Given the description of an element on the screen output the (x, y) to click on. 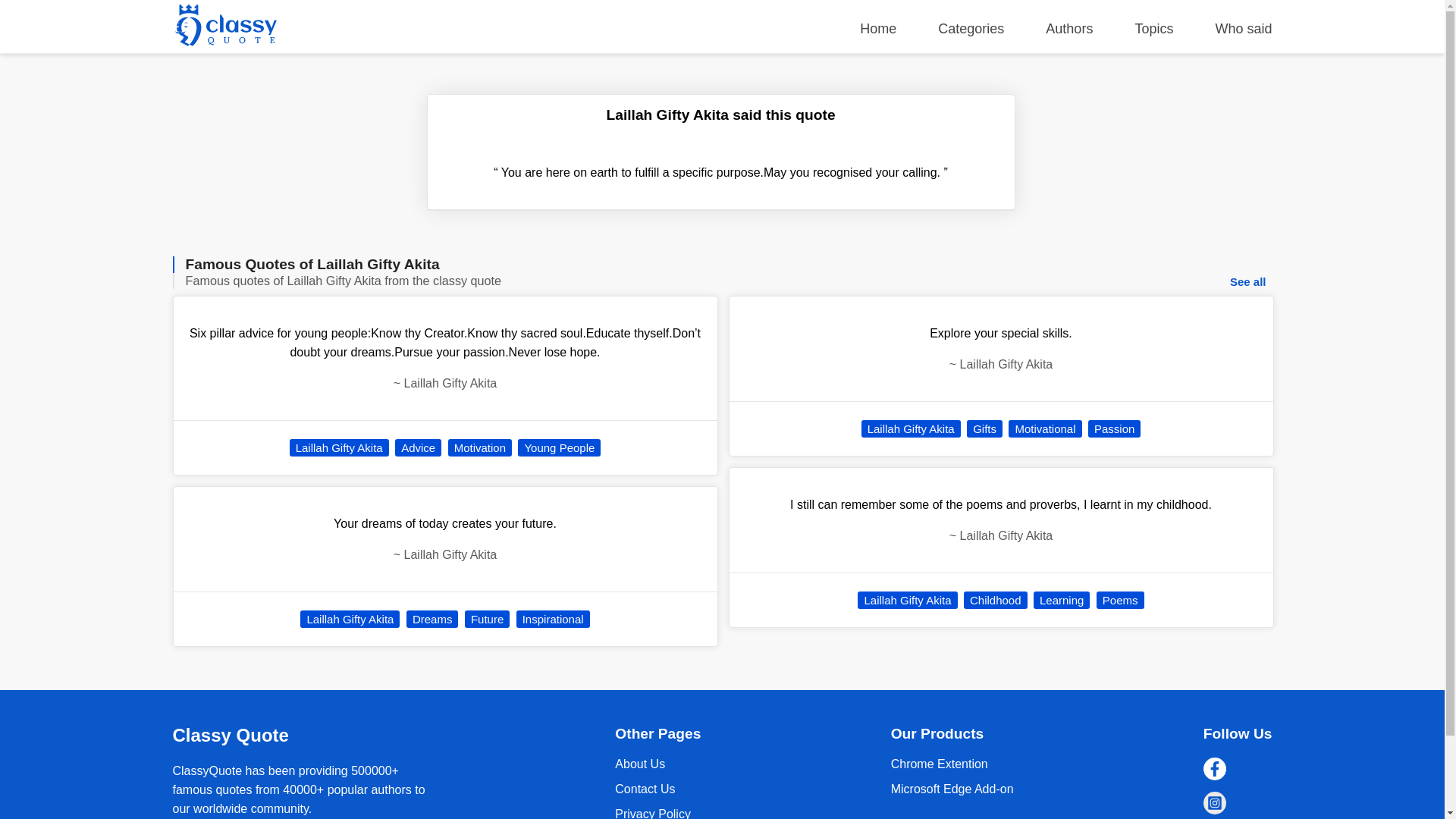
Learning (1061, 600)
Authors (1069, 28)
Chrome Extention (952, 788)
Instagram coming soon (1214, 802)
Passion (1113, 428)
Chrome Extention (939, 763)
About Us (639, 763)
Motivation (480, 447)
Laillah Gifty Akita (910, 428)
Inspirational (552, 619)
Childhood (995, 600)
Motivational (1045, 428)
Contact Us (644, 788)
Advice (417, 447)
Facebook (1214, 768)
